Given the description of an element on the screen output the (x, y) to click on. 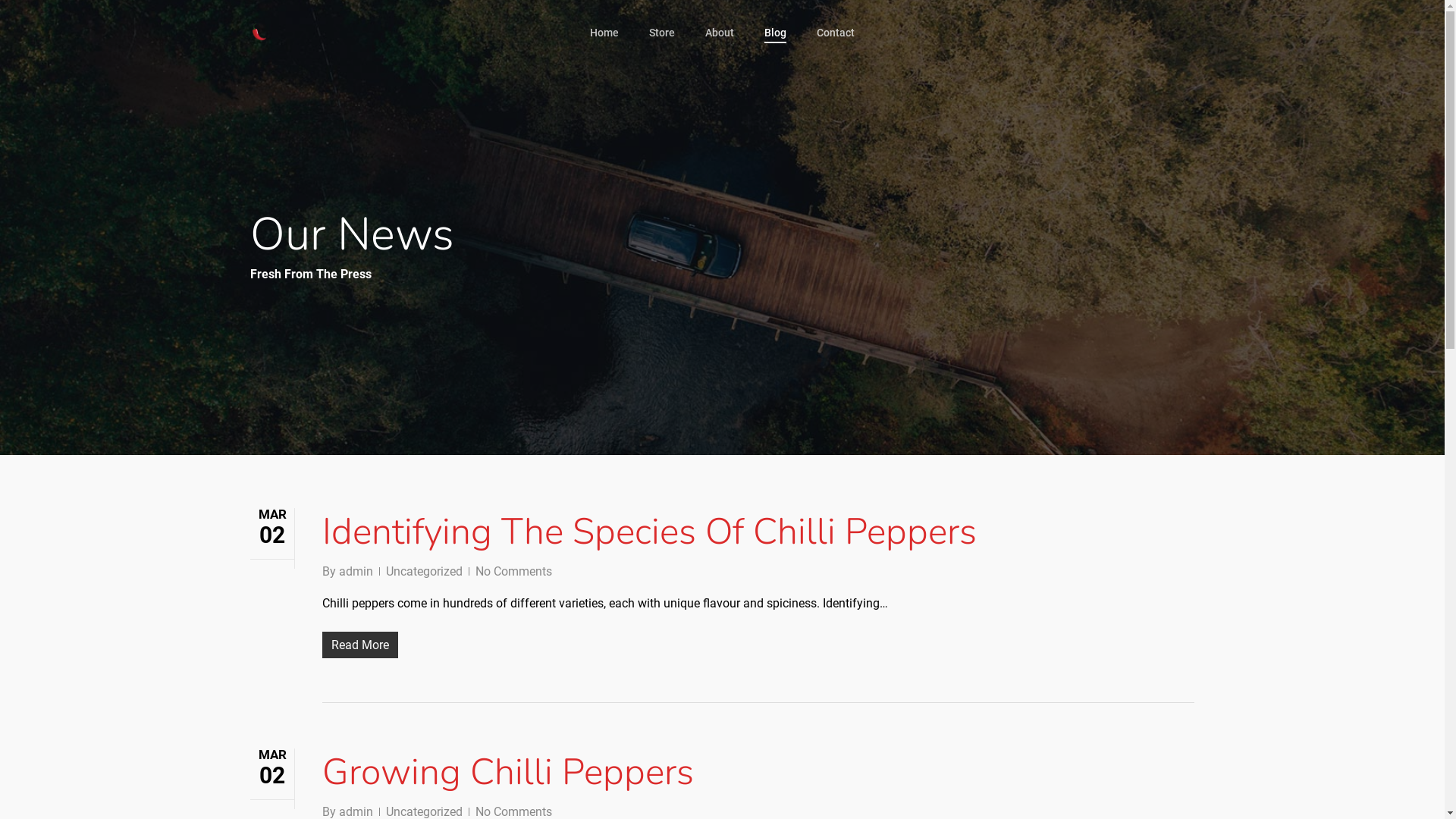
No Comments Element type: text (513, 571)
Identifying The Species Of Chilli Peppers Element type: text (649, 531)
Home Element type: text (962, 253)
Blog Element type: text (962, 340)
About Element type: text (962, 311)
Contact Element type: text (962, 368)
Read More Element type: text (758, 644)
About Element type: text (719, 32)
Dalton Catering QLD Element type: text (786, 452)
Contact Element type: text (835, 32)
admin Element type: text (355, 571)
Growing Chilli Peppers Element type: text (507, 771)
Home Element type: text (603, 32)
Store Element type: text (962, 282)
Store Element type: text (661, 32)
Uncategorized Element type: text (423, 571)
Blog Element type: text (775, 32)
